Given the description of an element on the screen output the (x, y) to click on. 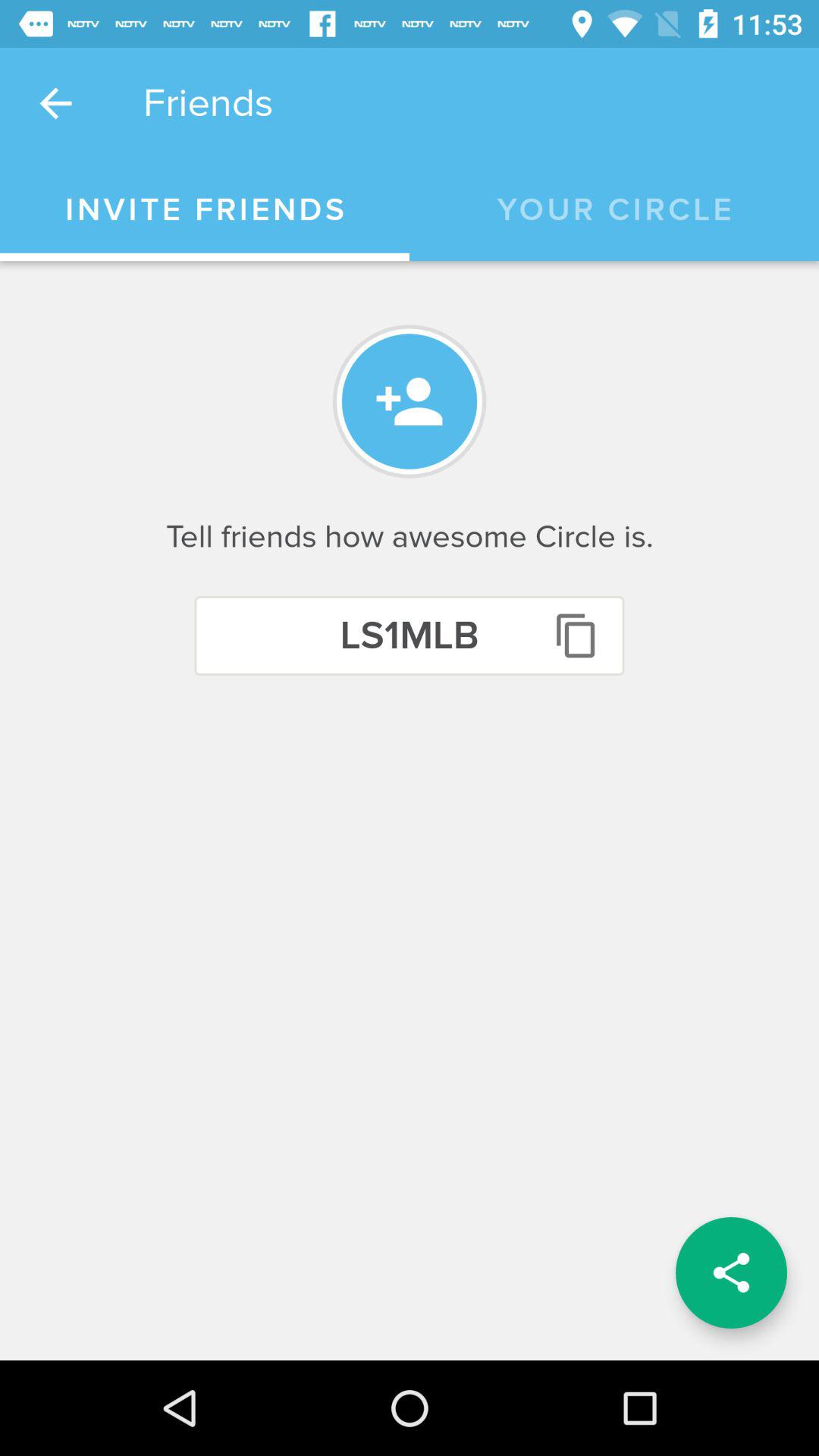
select the icon next to the friends icon (55, 103)
